Given the description of an element on the screen output the (x, y) to click on. 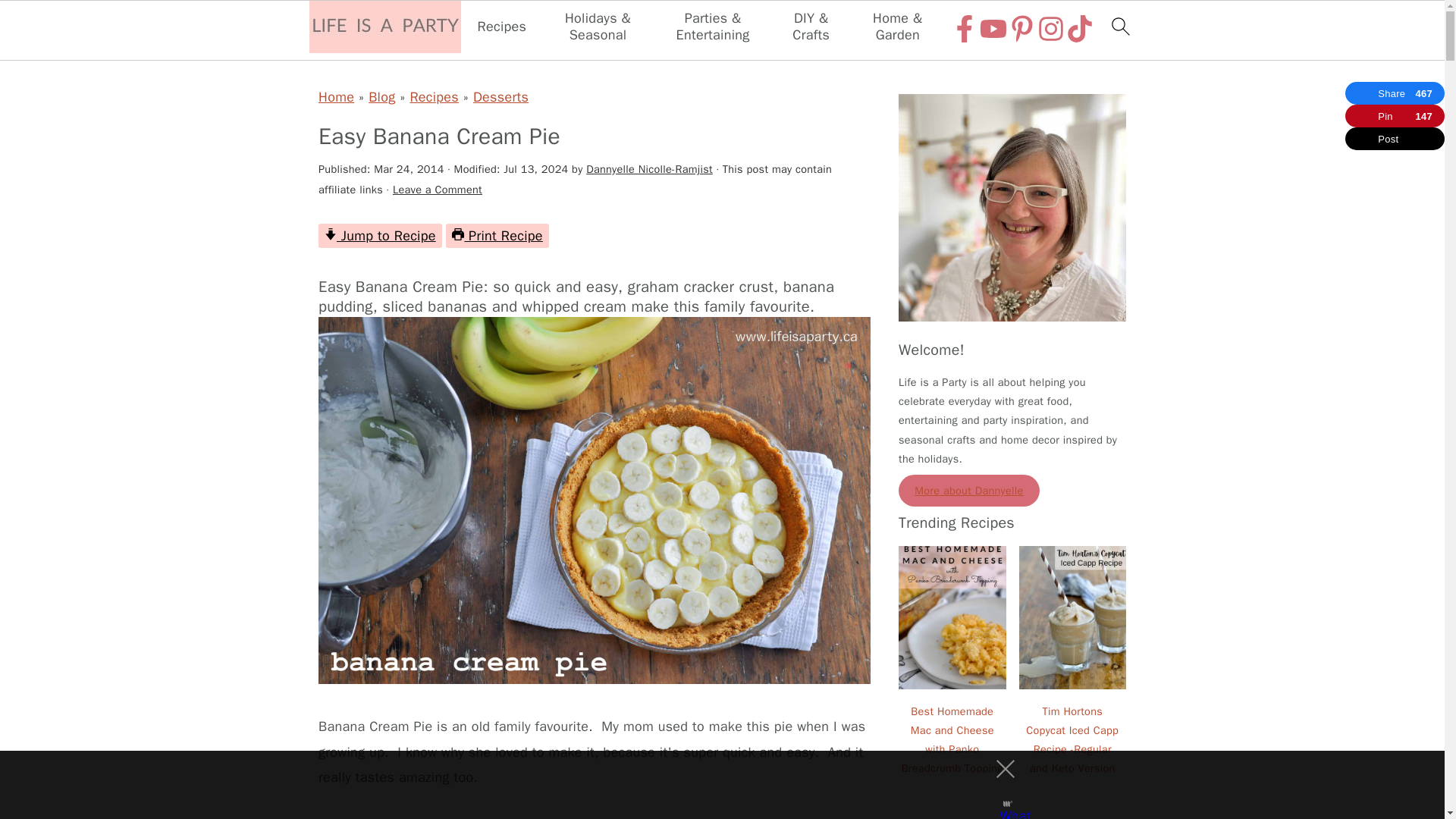
Blog (381, 96)
Home (335, 96)
search icon (1119, 26)
3rd party ad content (708, 785)
Recipes (502, 27)
